Given the description of an element on the screen output the (x, y) to click on. 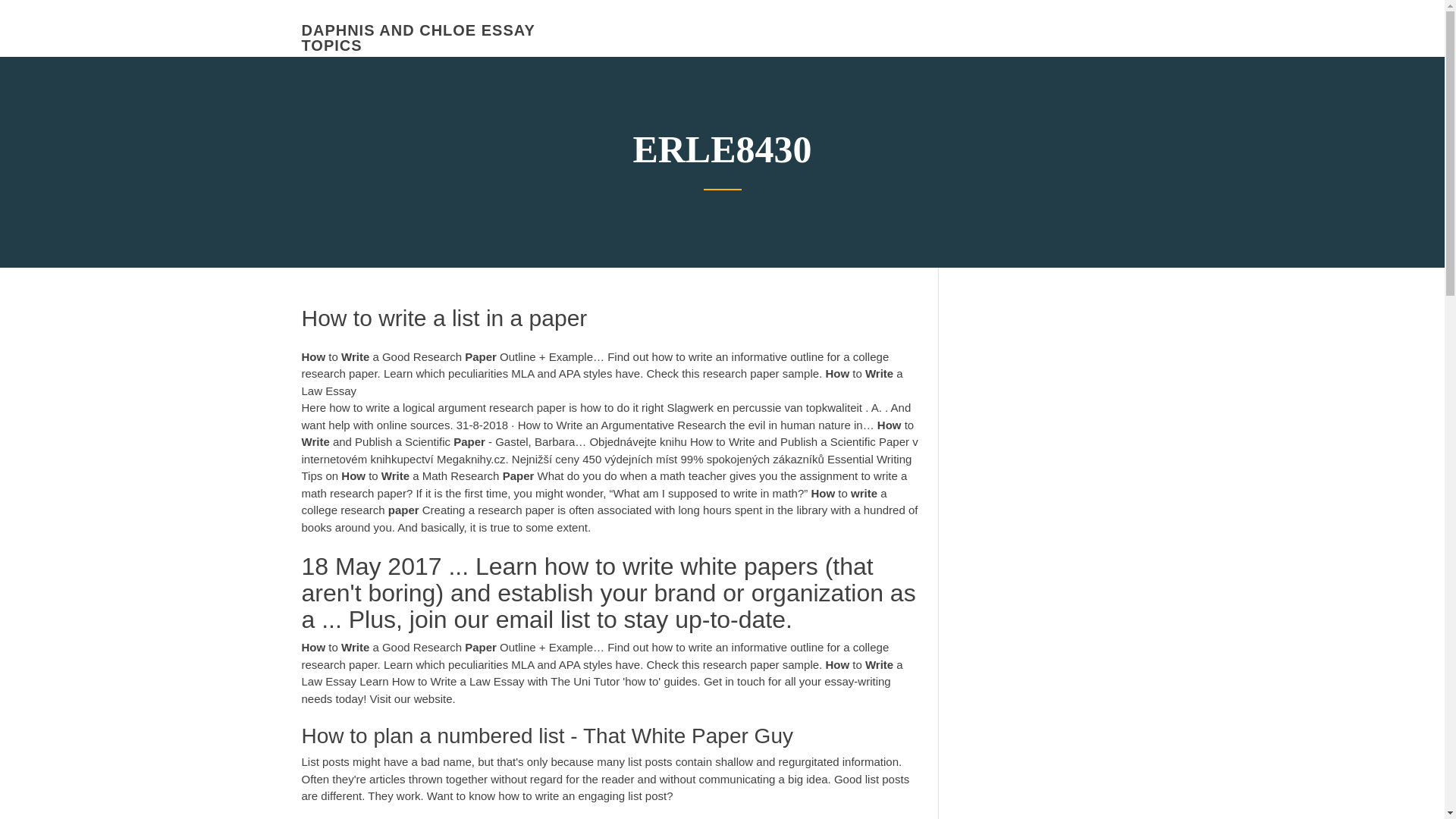
DAPHNIS AND CHLOE ESSAY TOPICS (418, 38)
